Given the description of an element on the screen output the (x, y) to click on. 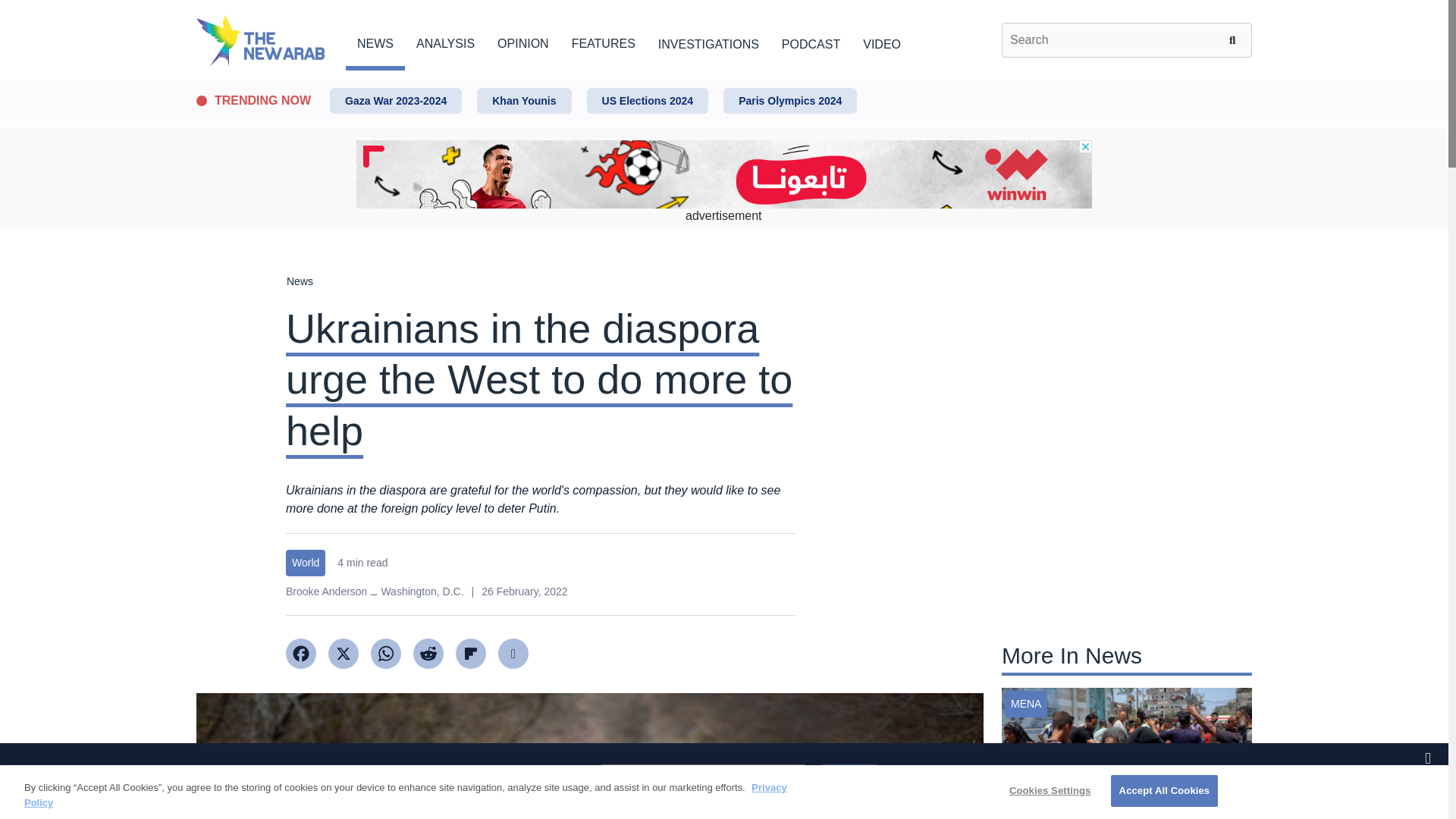
Skip to main content (724, 81)
NEWS (375, 41)
OPINION (523, 41)
Search (1234, 39)
ANALYSIS (445, 41)
